Given the description of an element on the screen output the (x, y) to click on. 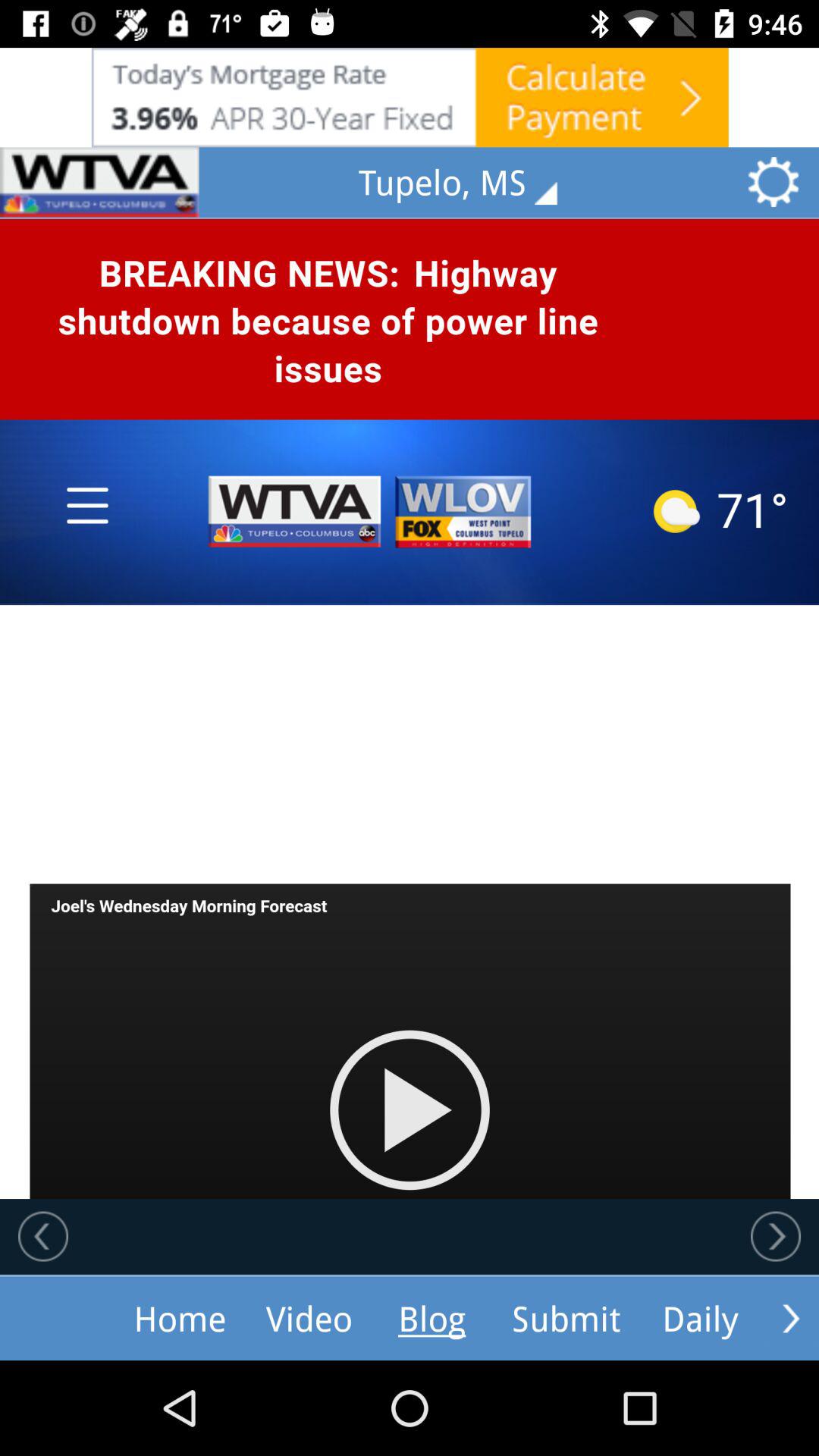
back option (43, 1236)
